Given the description of an element on the screen output the (x, y) to click on. 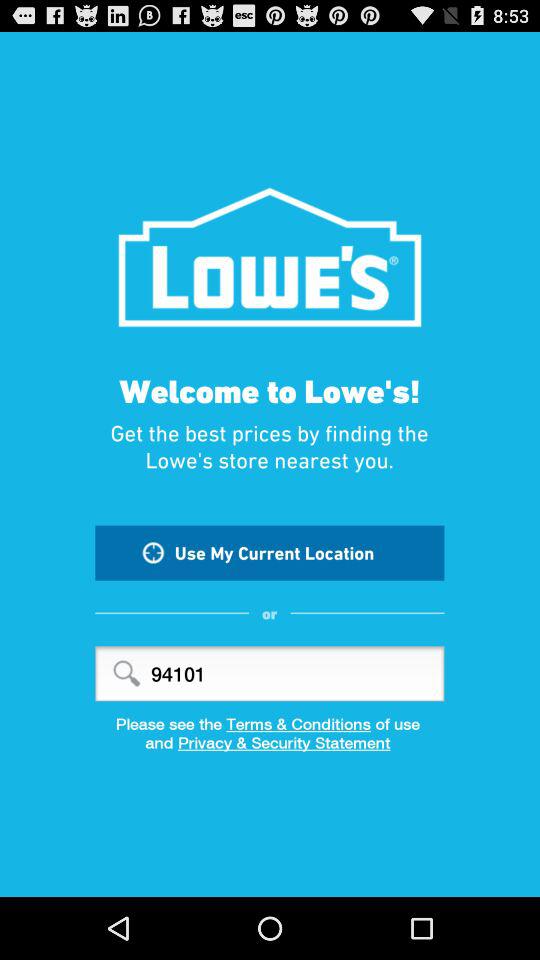
choose icon below get the best item (269, 552)
